Given the description of an element on the screen output the (x, y) to click on. 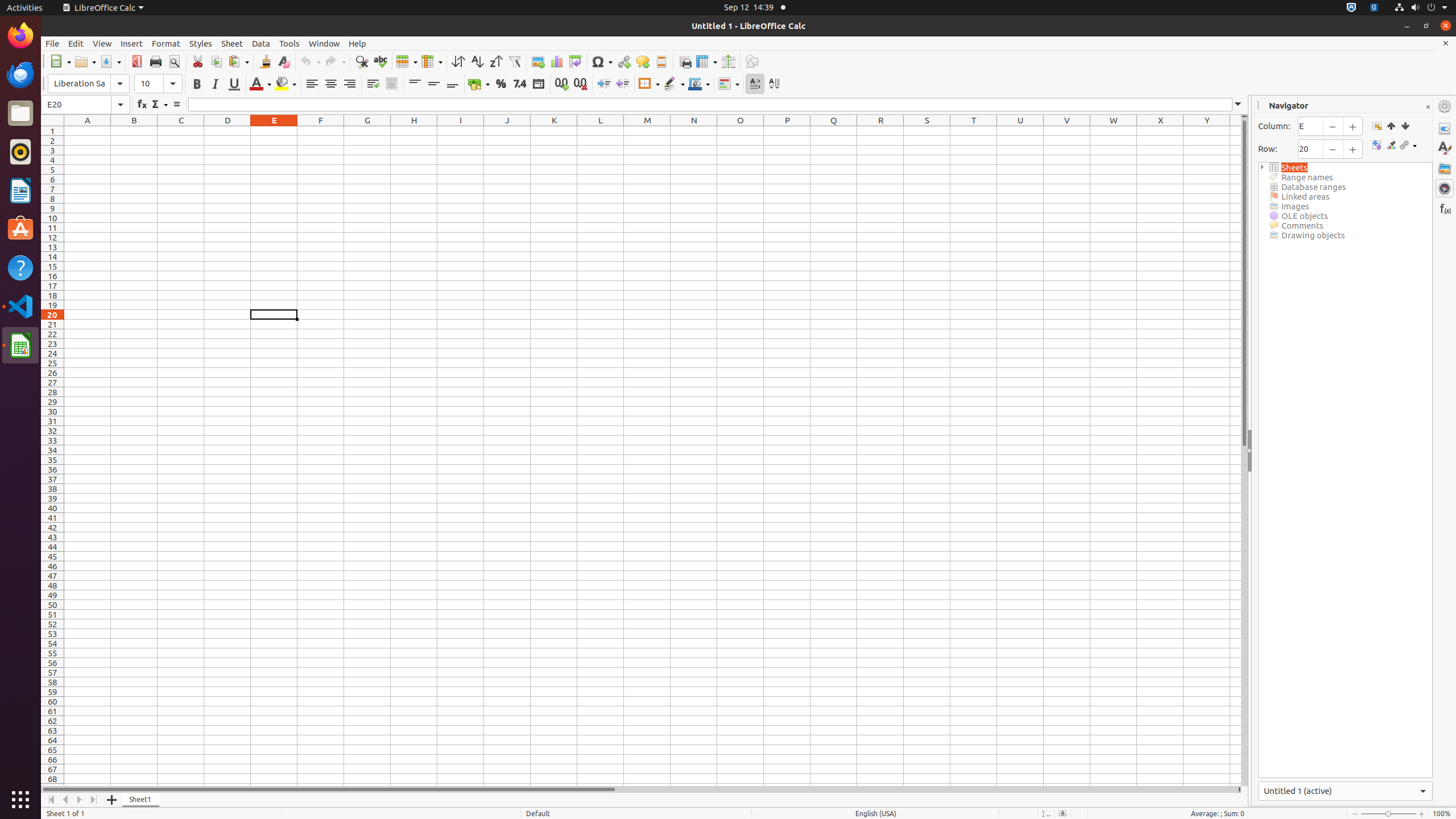
Headers and Footers Element type: push-button (660, 61)
Date Element type: push-button (537, 83)
Expand Formula Bar Element type: push-button (1237, 104)
Scenarios Element type: push-button (1390, 144)
Cut Element type: push-button (197, 61)
